Given the description of an element on the screen output the (x, y) to click on. 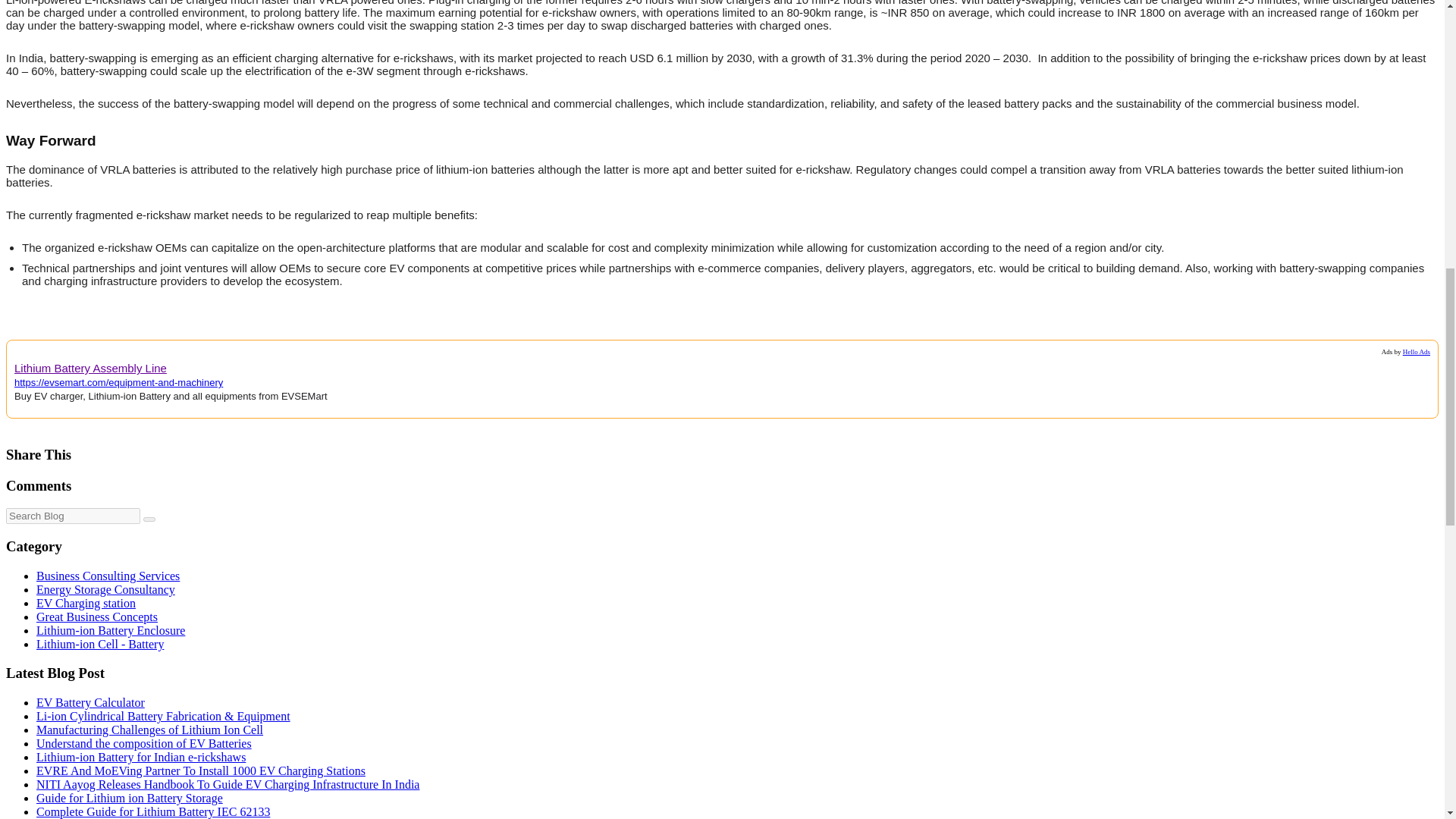
EV Battery Calculator (90, 702)
Lithium-ion Battery Enclosure (110, 630)
Guide for Lithium ion Battery Storage (129, 797)
Great Business Concepts (96, 616)
Understand the composition of EV Batteries (143, 743)
Lithium-ion Cell - Battery (99, 644)
EV Charging station (85, 603)
Lithium-ion Battery for Indian e-rickshaws (141, 757)
Complete Guide for Lithium Battery IEC 62133 (152, 811)
Energy Storage Consultancy (105, 589)
Hello Ads (1416, 351)
Lithium Battery Assembly Line (90, 366)
Business Consulting Services (107, 575)
Manufacturing Challenges of Lithium Ion Cell (149, 729)
